Given the description of an element on the screen output the (x, y) to click on. 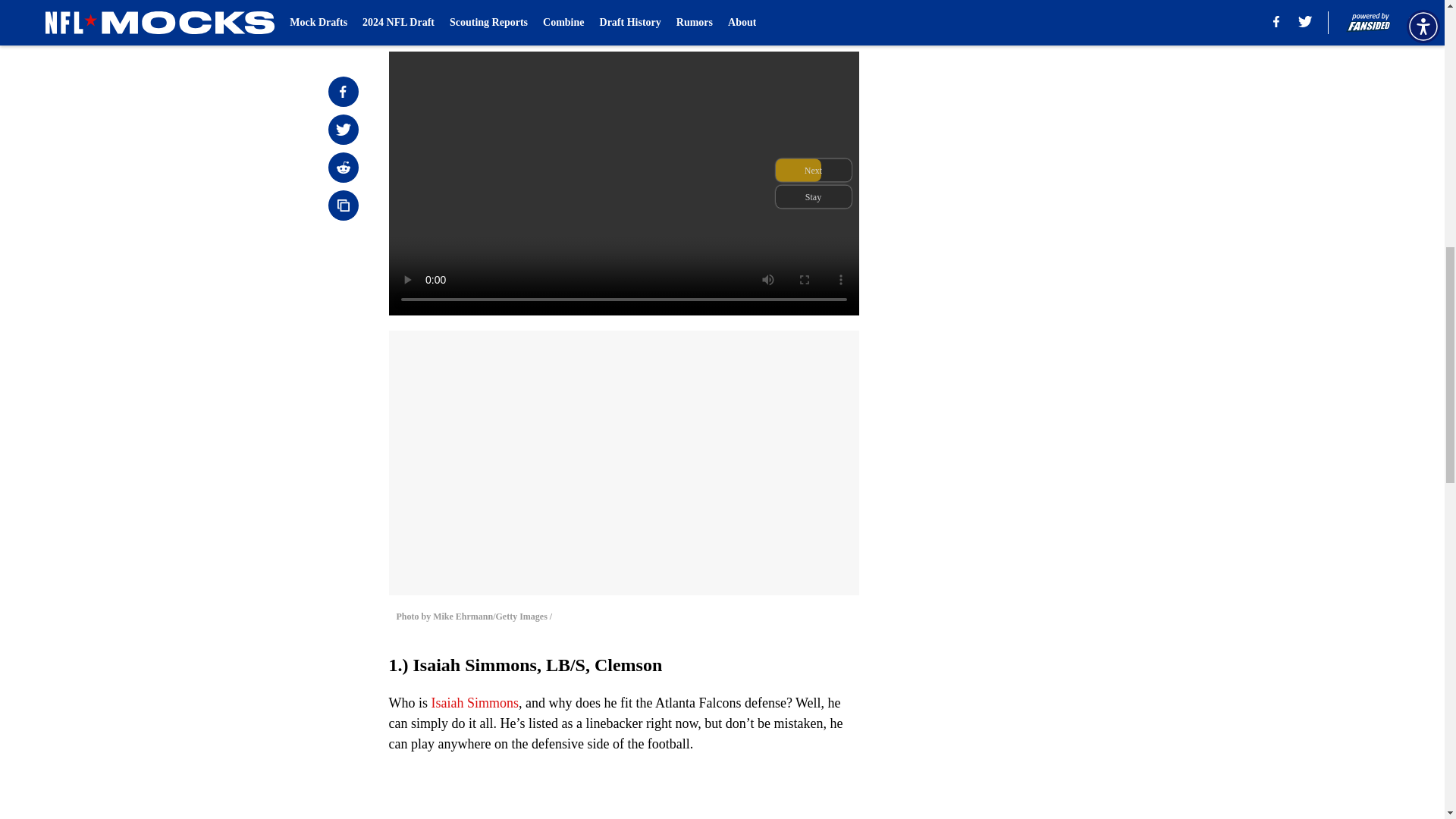
Isaiah Simmons (474, 702)
3rd party ad content (1047, 320)
Next (813, 20)
Prev (433, 20)
3rd party ad content (1047, 100)
